Given the description of an element on the screen output the (x, y) to click on. 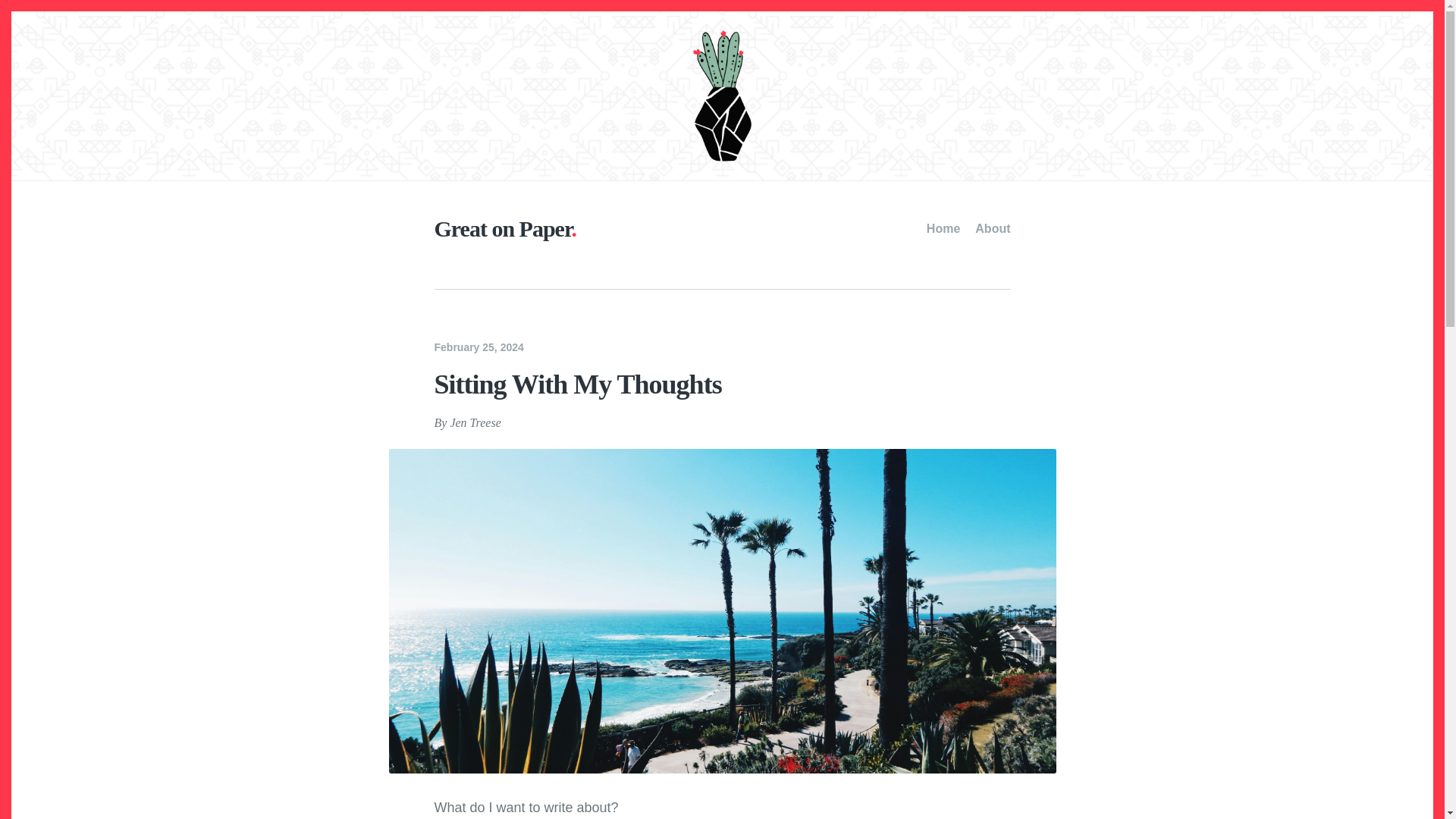
Great on Paper (504, 228)
About (992, 229)
Home (942, 229)
